Given the description of an element on the screen output the (x, y) to click on. 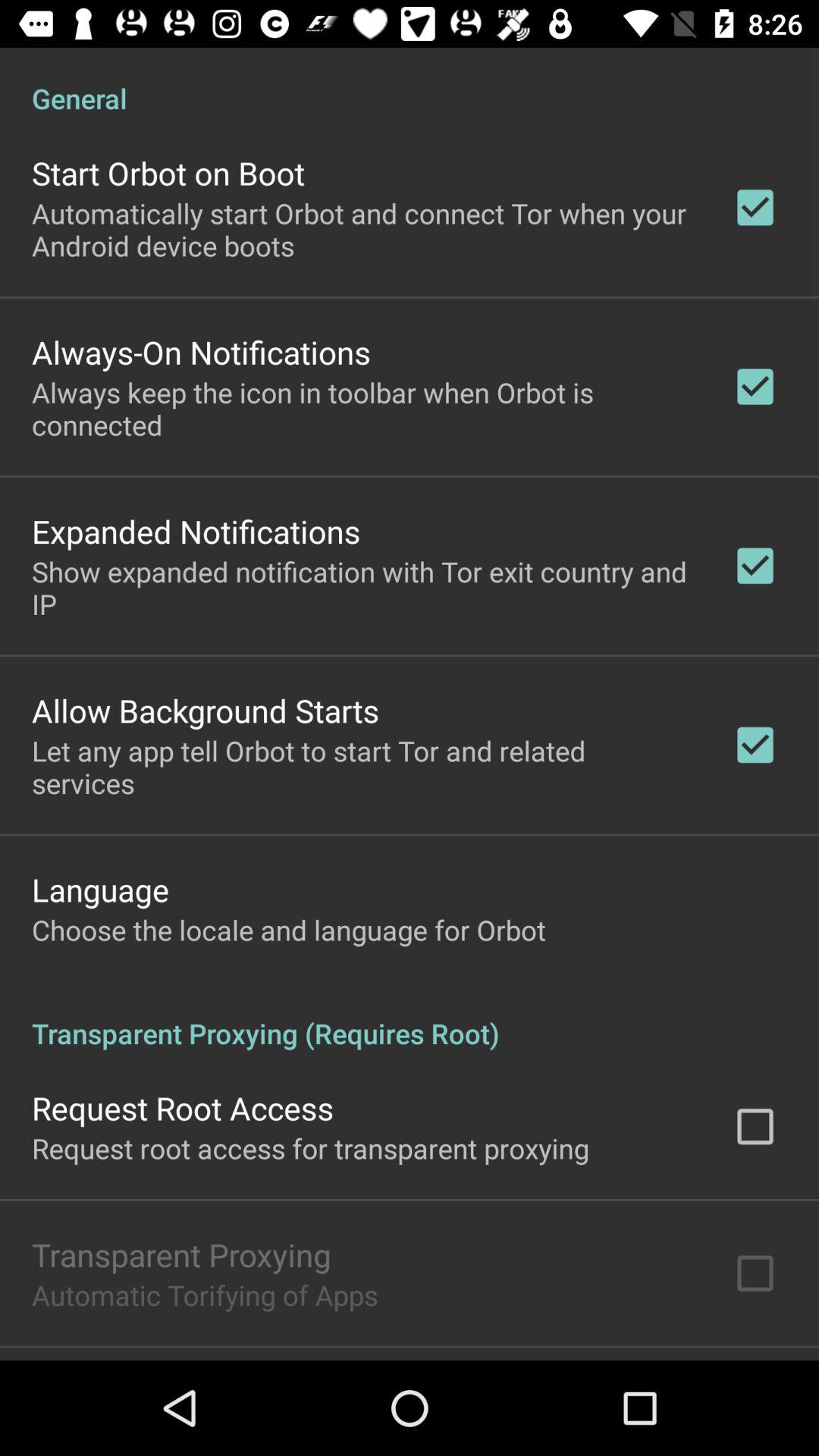
choose the icon above the allow background starts (361, 587)
